Given the description of an element on the screen output the (x, y) to click on. 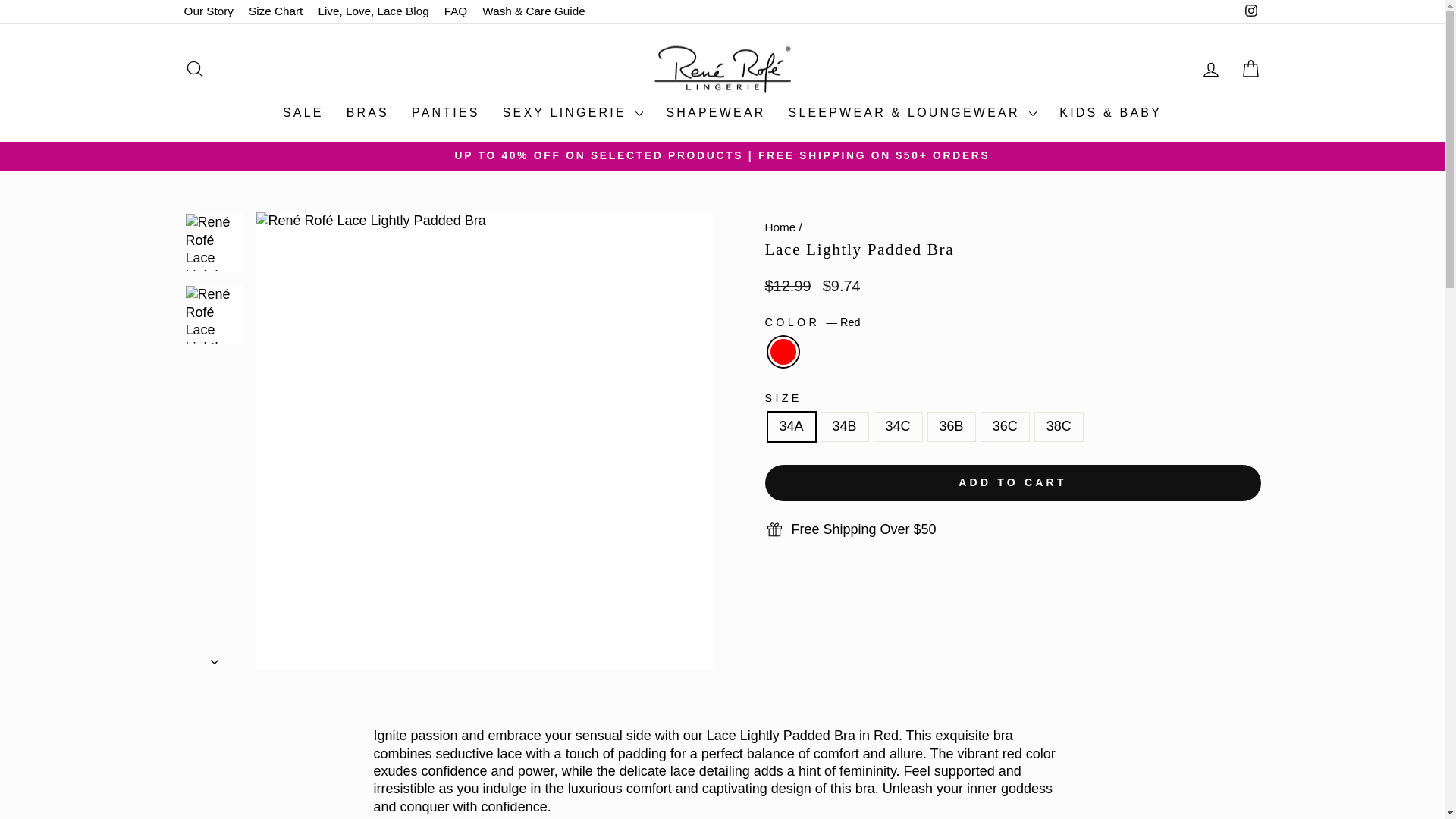
ACCOUNT (1210, 69)
Back to the frontpage (779, 226)
ICON-SEARCH (194, 68)
instagram (1250, 10)
